Given the description of an element on the screen output the (x, y) to click on. 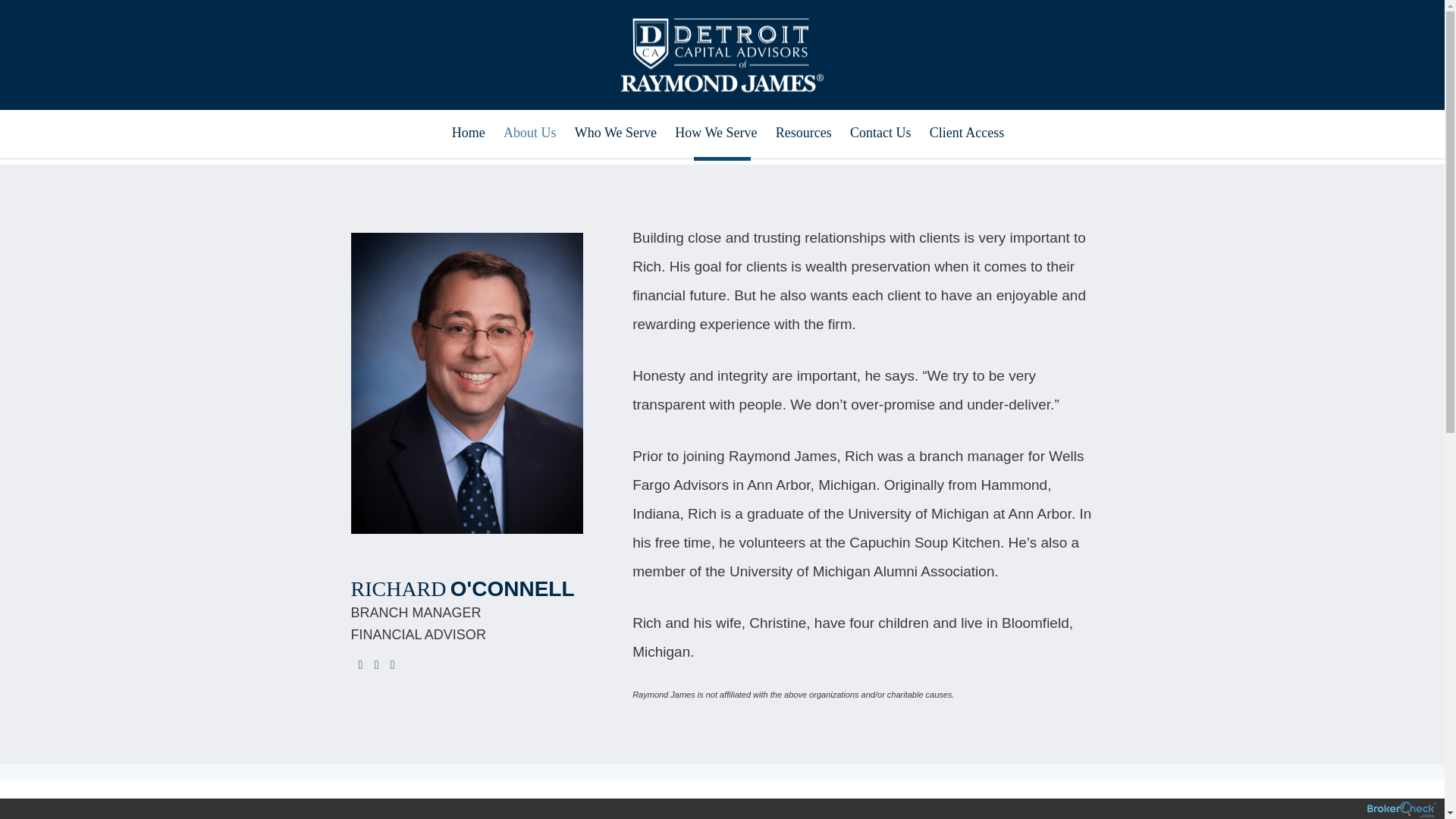
How We Serve (714, 133)
Contact Us (879, 136)
Home (467, 128)
Client Access (966, 137)
Resources (802, 135)
About Us (528, 129)
Who We Serve (615, 131)
